Given the description of an element on the screen output the (x, y) to click on. 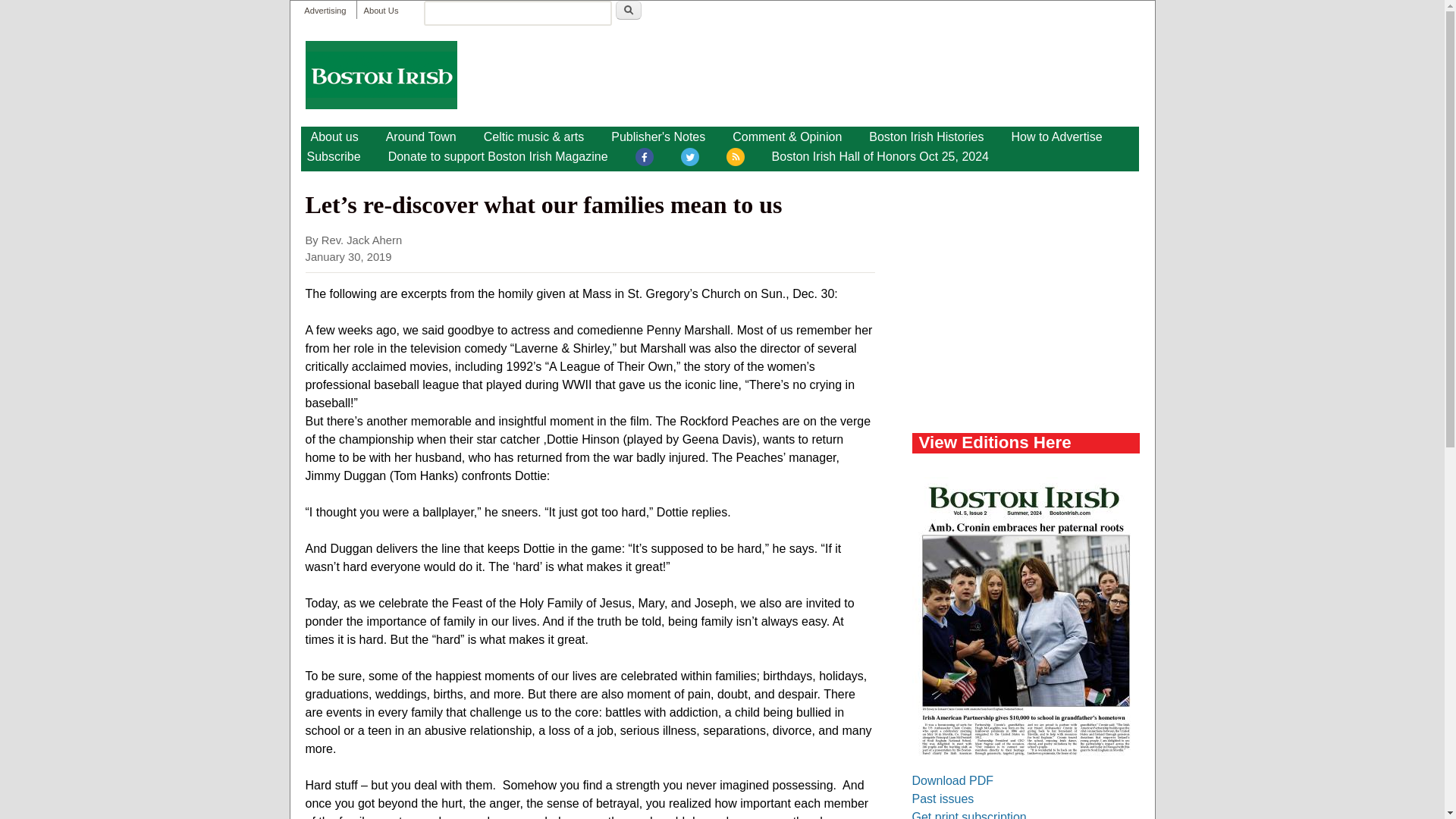
Advertising (324, 10)
How to Advertise (1056, 136)
About Us (379, 10)
Enter the terms you wish to search for. (517, 12)
How to advertise with Boston Irish (1056, 136)
Subscribe (332, 157)
Boston Irish Hall of Honors Oct 25, 2024 (879, 157)
Donate to support Boston Irish Magazine (497, 157)
Boston Irish Reporter on Twitter (689, 159)
Search (628, 9)
Publisher's Notes (658, 136)
Search (628, 9)
Boston Irish Histories (926, 136)
About Boston Irish (334, 136)
By BI Magazine staff (421, 136)
